Given the description of an element on the screen output the (x, y) to click on. 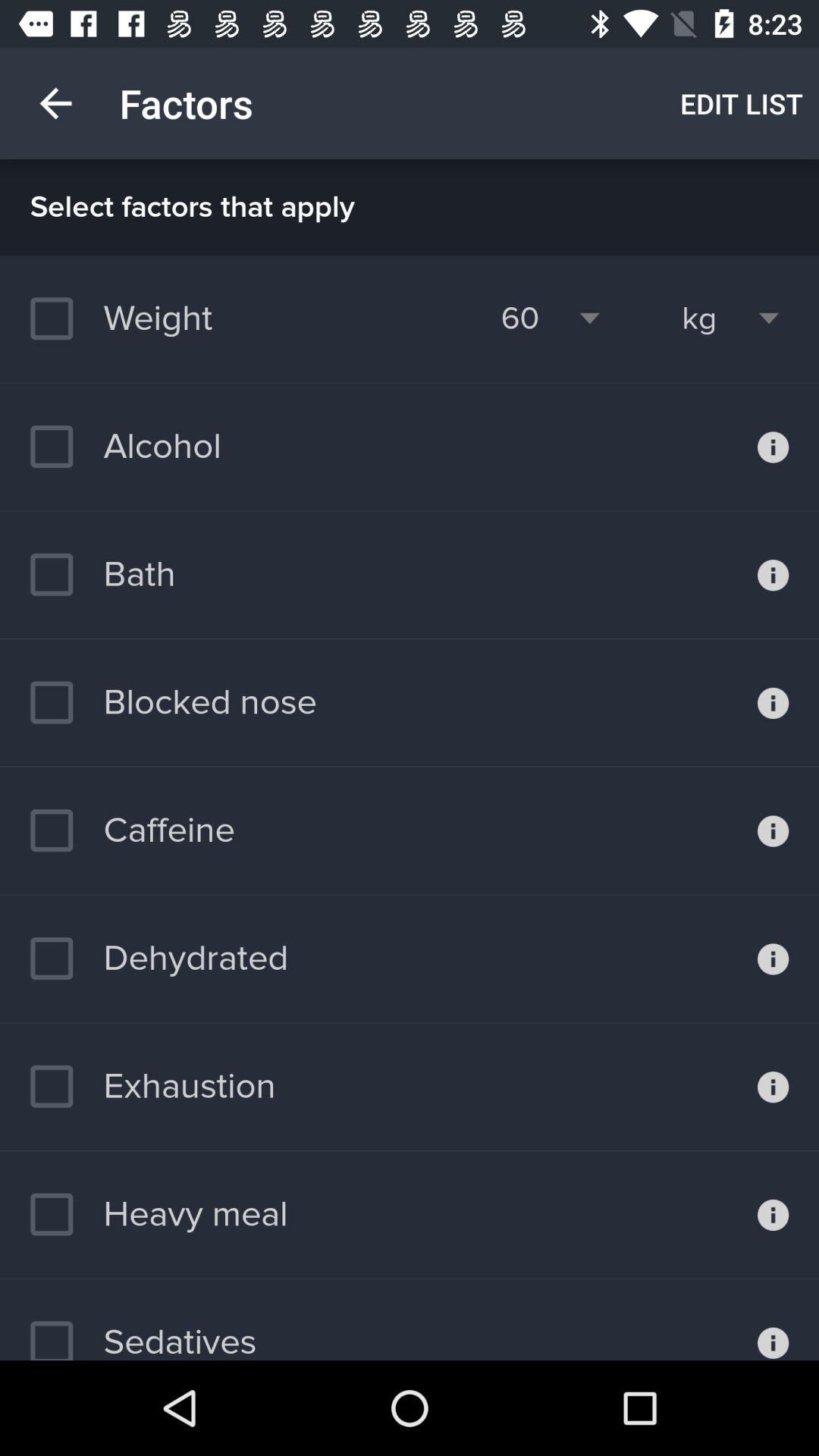
show more information (773, 446)
